Given the description of an element on the screen output the (x, y) to click on. 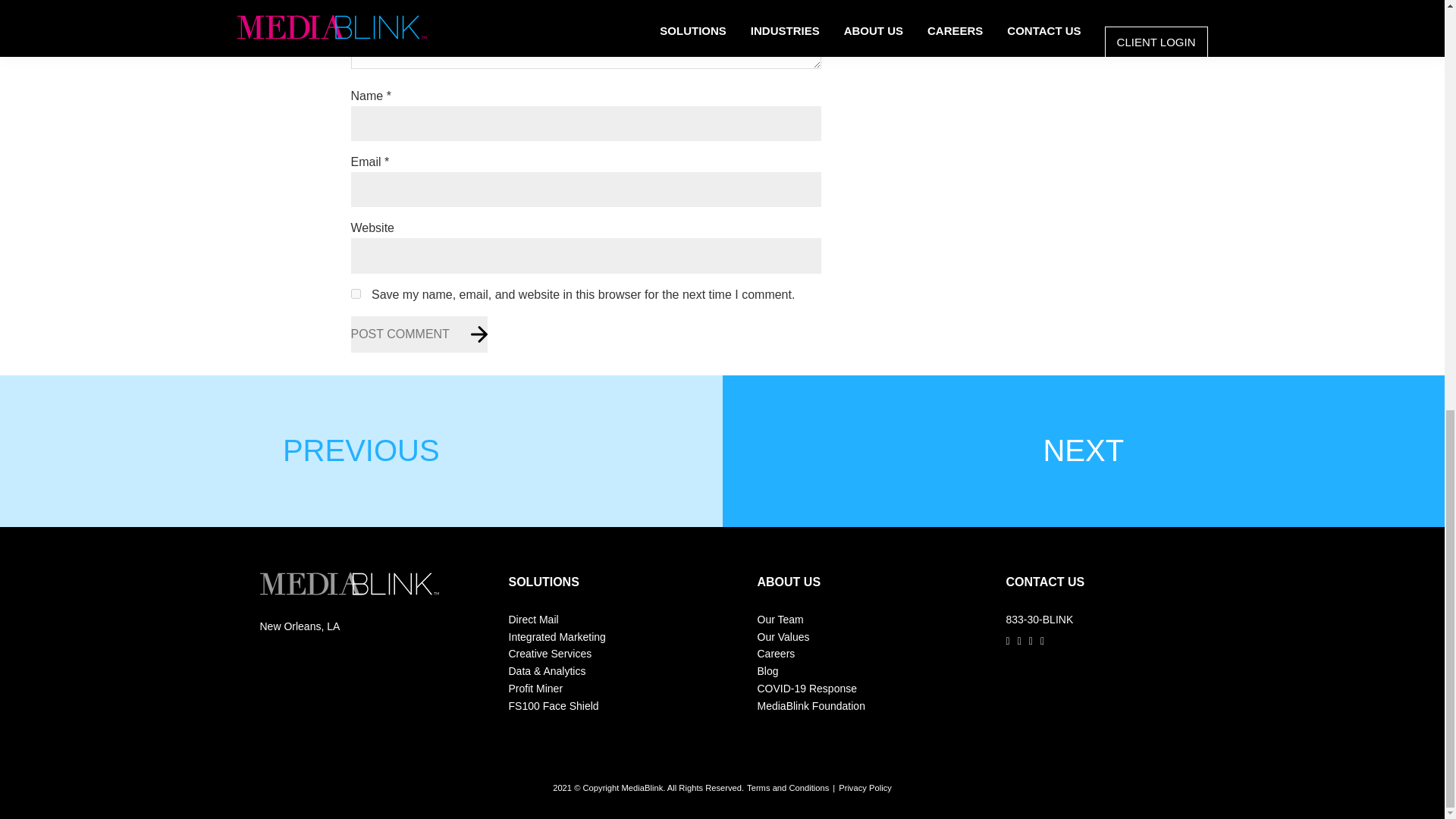
Post Comment (418, 334)
yes (354, 293)
